Given the description of an element on the screen output the (x, y) to click on. 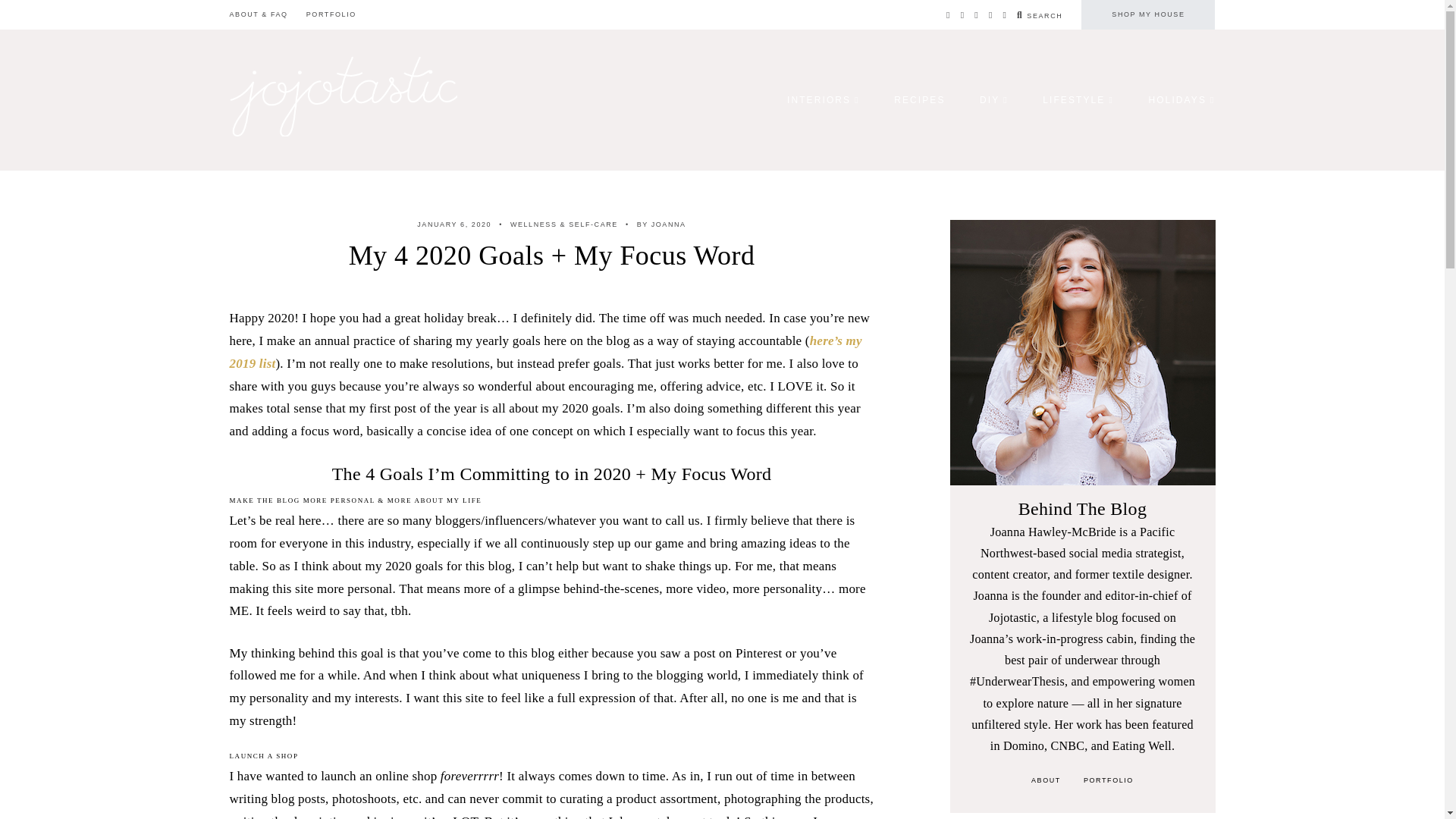
Joanna (661, 224)
